Given the description of an element on the screen output the (x, y) to click on. 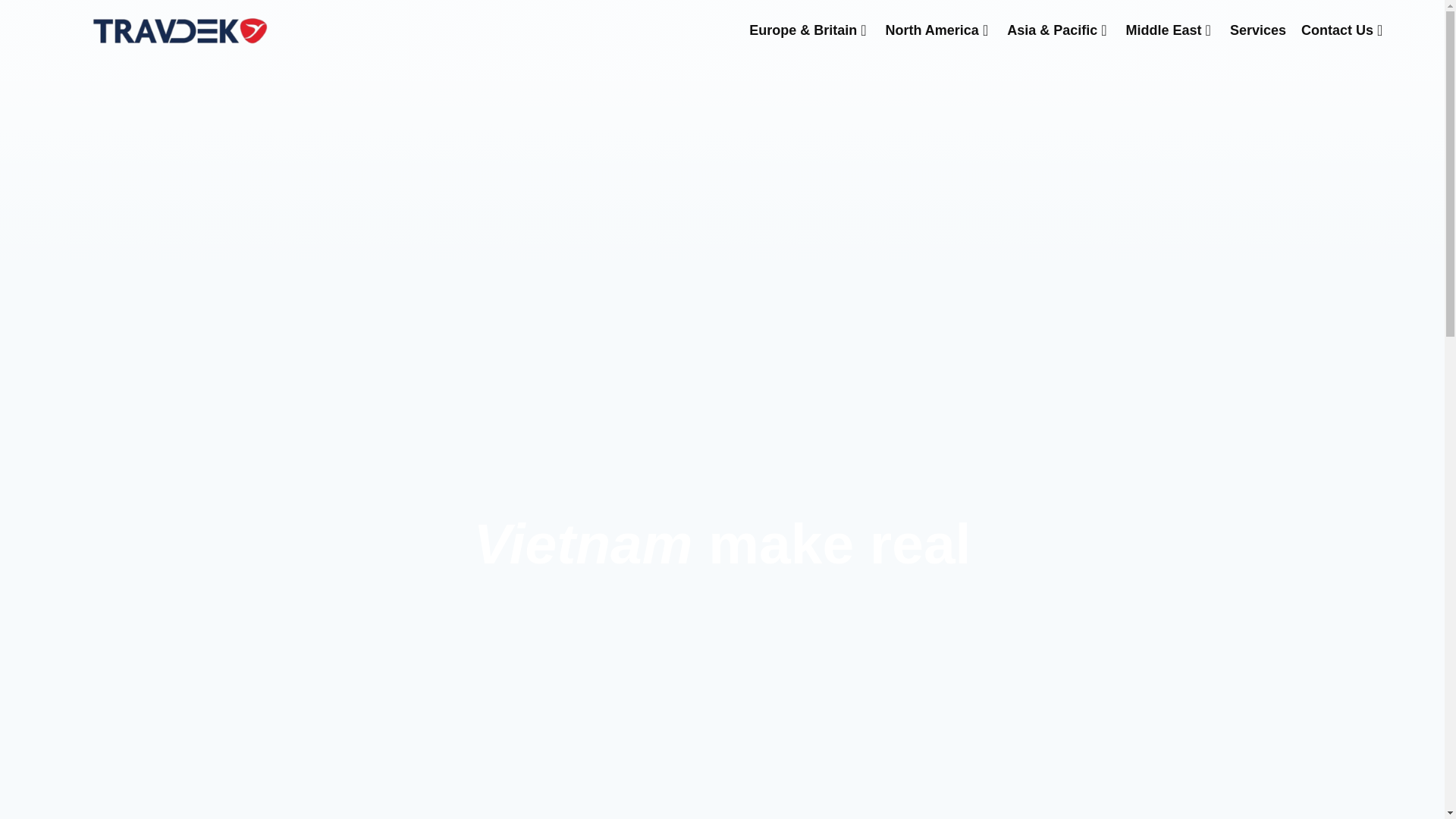
Middle East (1170, 30)
Contact Us (1343, 30)
North America (938, 30)
Services (1258, 30)
